Given the description of an element on the screen output the (x, y) to click on. 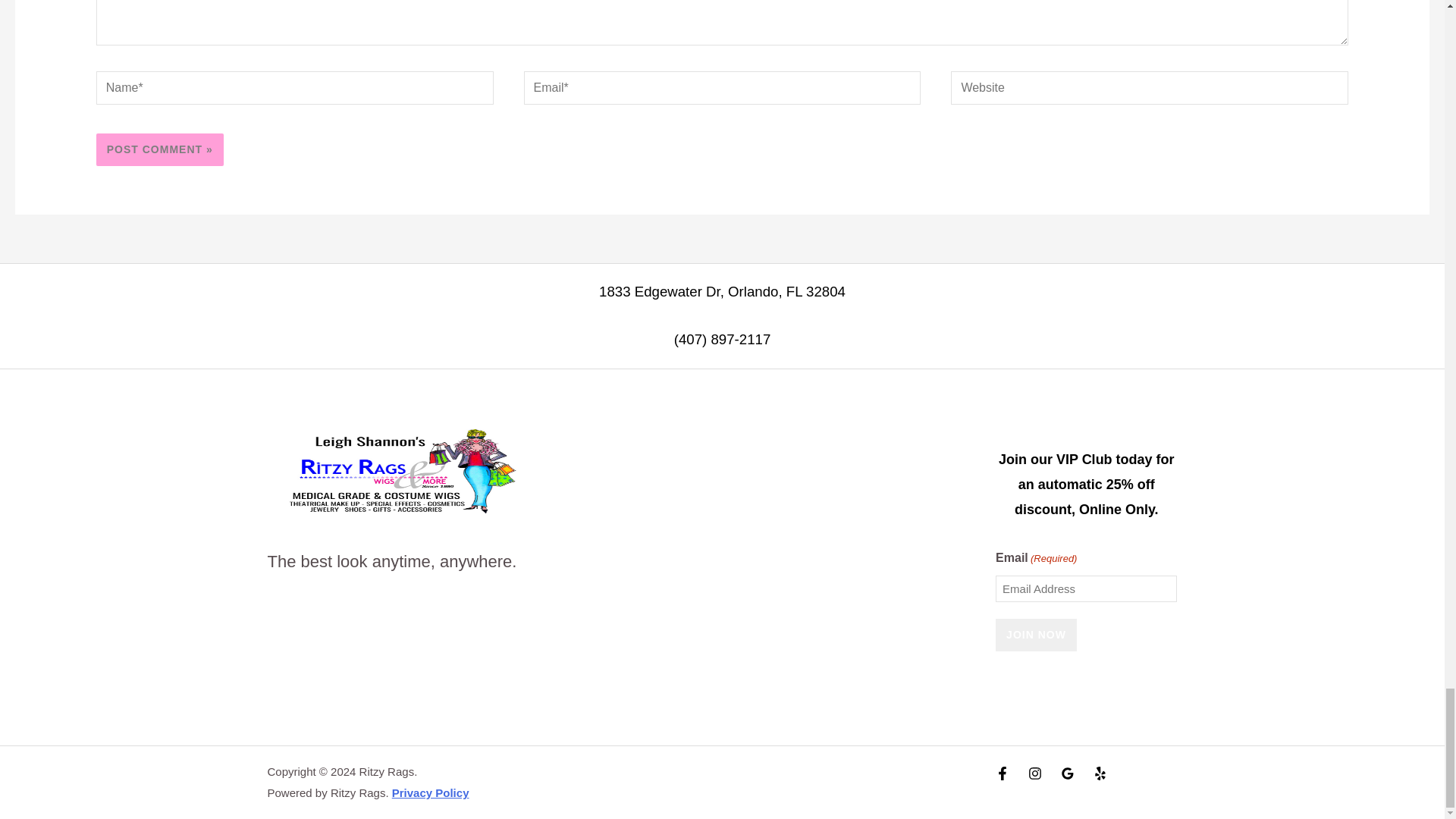
JOIN NOW (1036, 635)
